Given the description of an element on the screen output the (x, y) to click on. 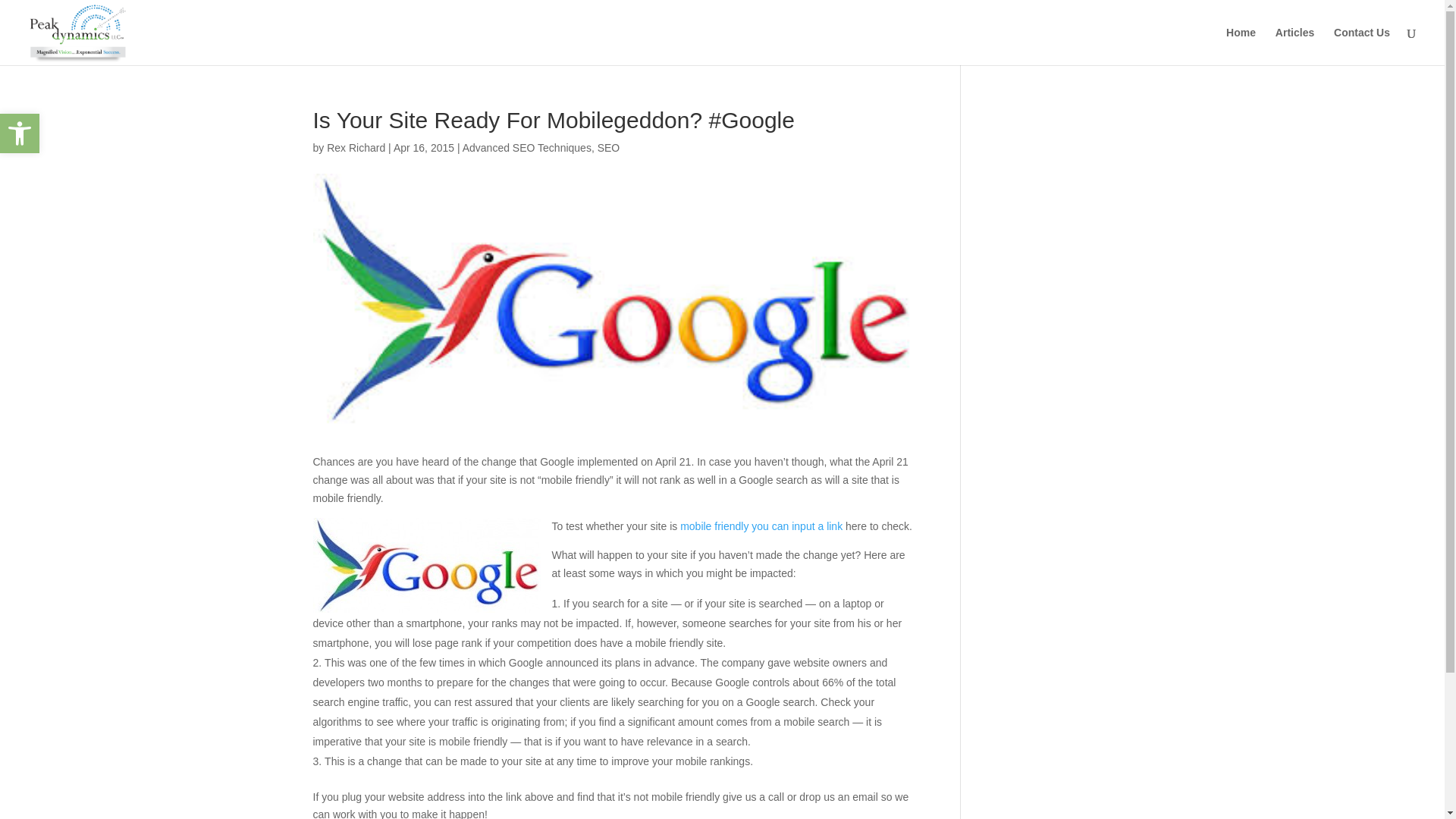
Advanced SEO Techniques (527, 147)
SEO (608, 147)
Posts by Rex Richard (355, 147)
mobile friendly you can input a link (761, 526)
Articles (1294, 46)
Accessibility Tools (19, 133)
Rex Richard (355, 147)
Accessibility Tools (19, 133)
Contact Us (1361, 46)
